Given the description of an element on the screen output the (x, y) to click on. 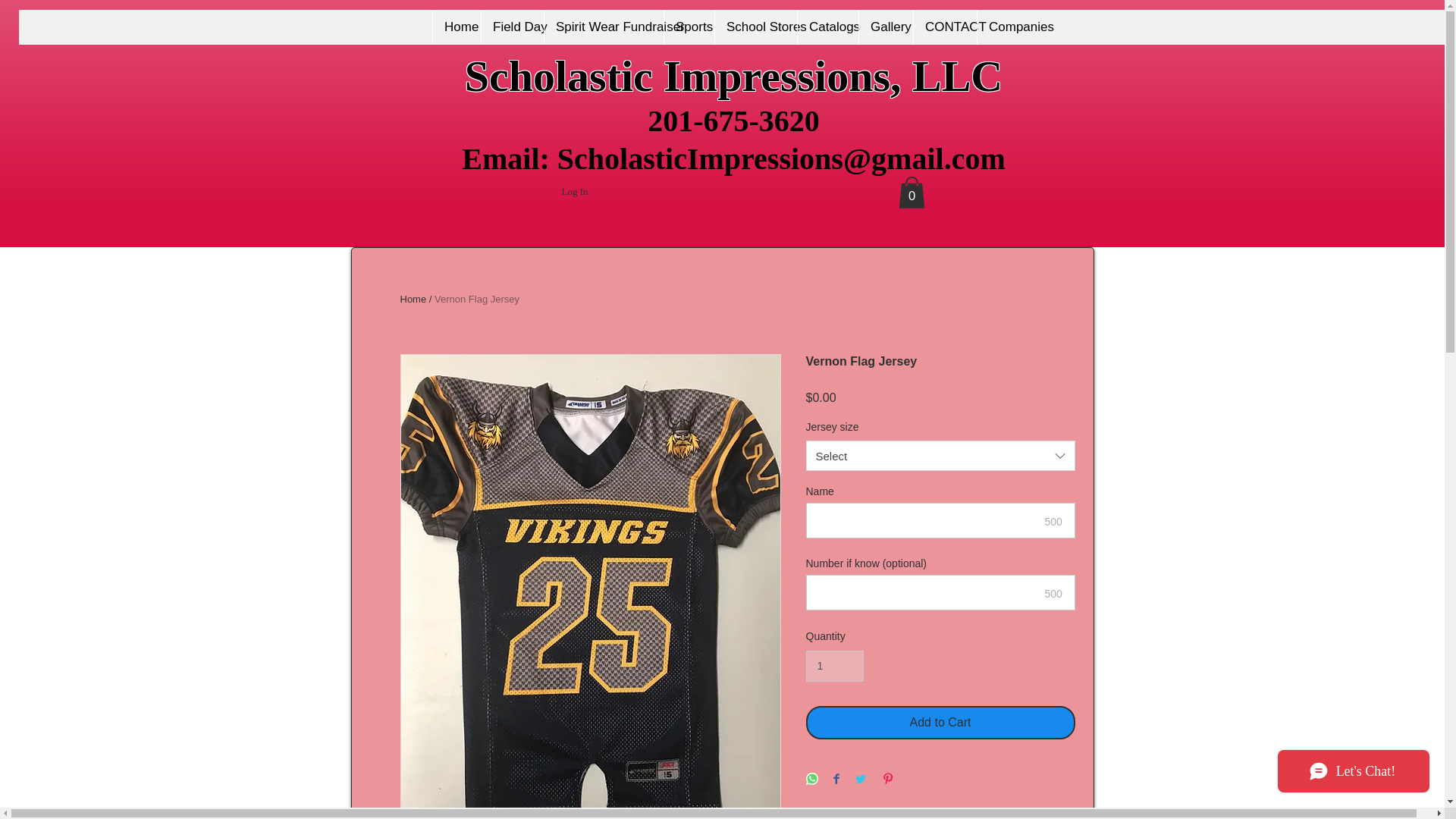
Spirit Wear Fundraiser (603, 27)
Wix Chat (1356, 774)
Home (456, 27)
1 (834, 665)
Sports (688, 27)
Field Day (511, 27)
School Stores (755, 27)
